Given the description of an element on the screen output the (x, y) to click on. 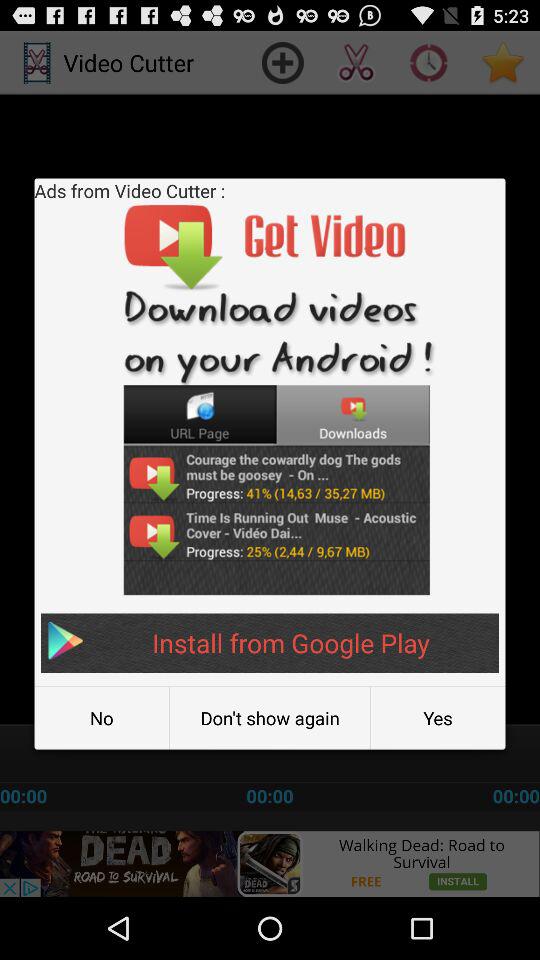
select the item next to the don t show item (101, 717)
